Given the description of an element on the screen output the (x, y) to click on. 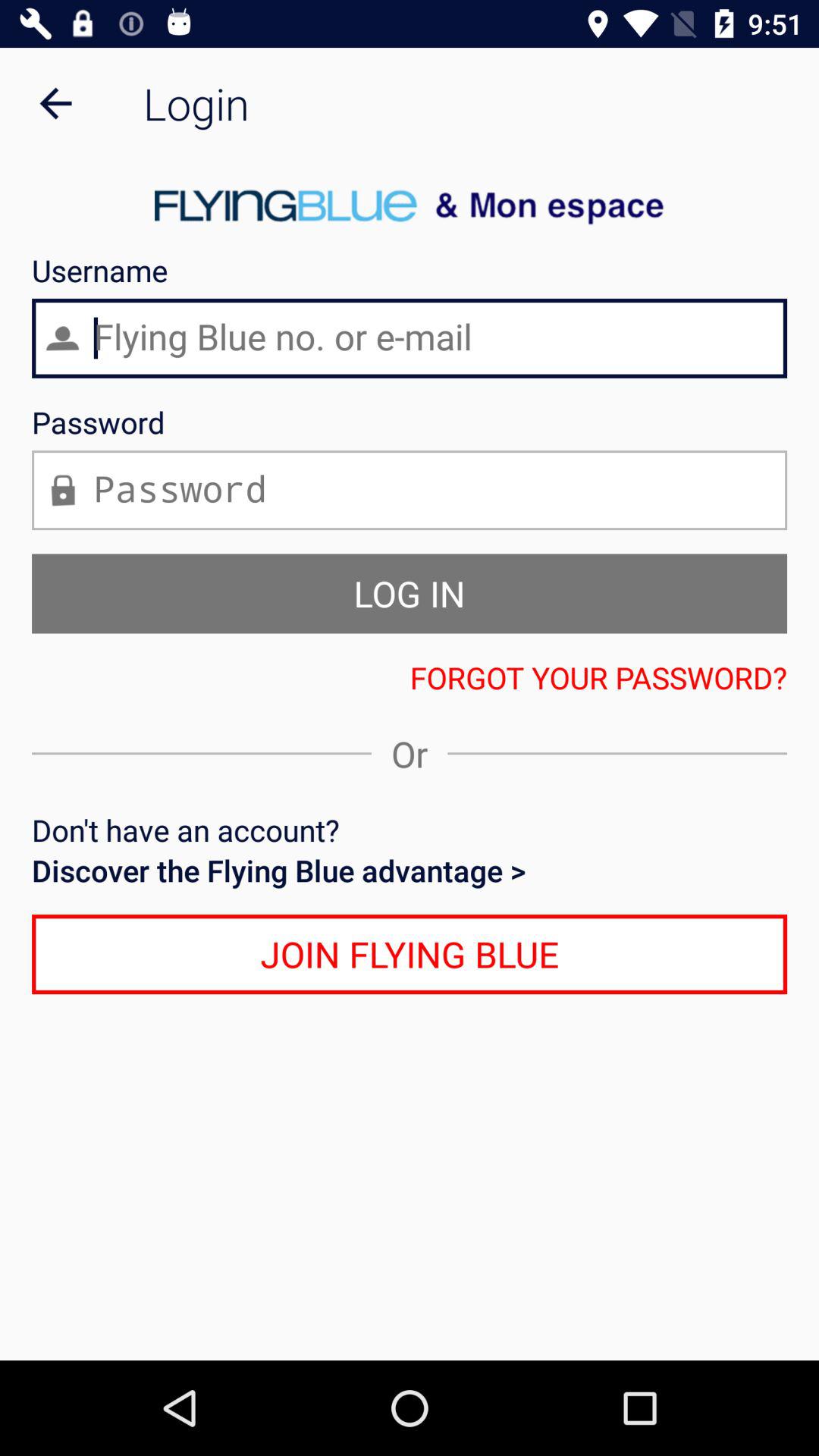
click the forgot your password? (409, 677)
